Given the description of an element on the screen output the (x, y) to click on. 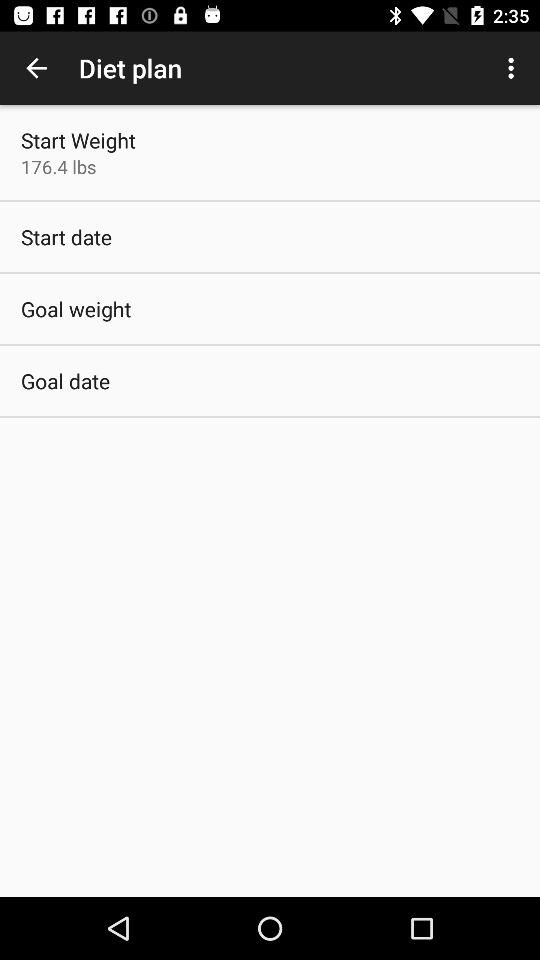
open app below the 176.4 lbs icon (66, 236)
